Given the description of an element on the screen output the (x, y) to click on. 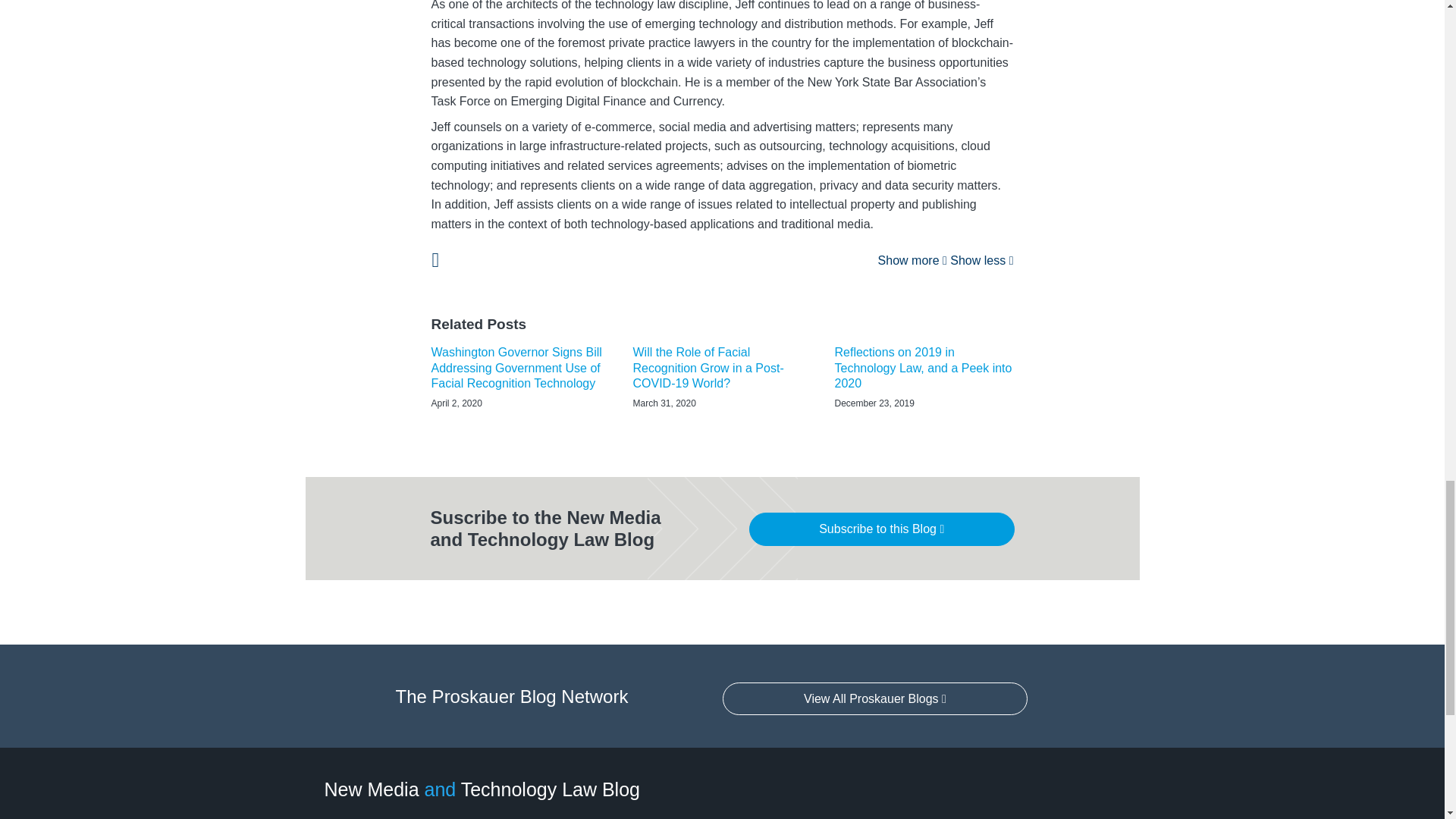
Show more (912, 259)
Reflections on 2019 in Technology Law, and a Peek into 2020 (923, 368)
Show less (981, 259)
